Given the description of an element on the screen output the (x, y) to click on. 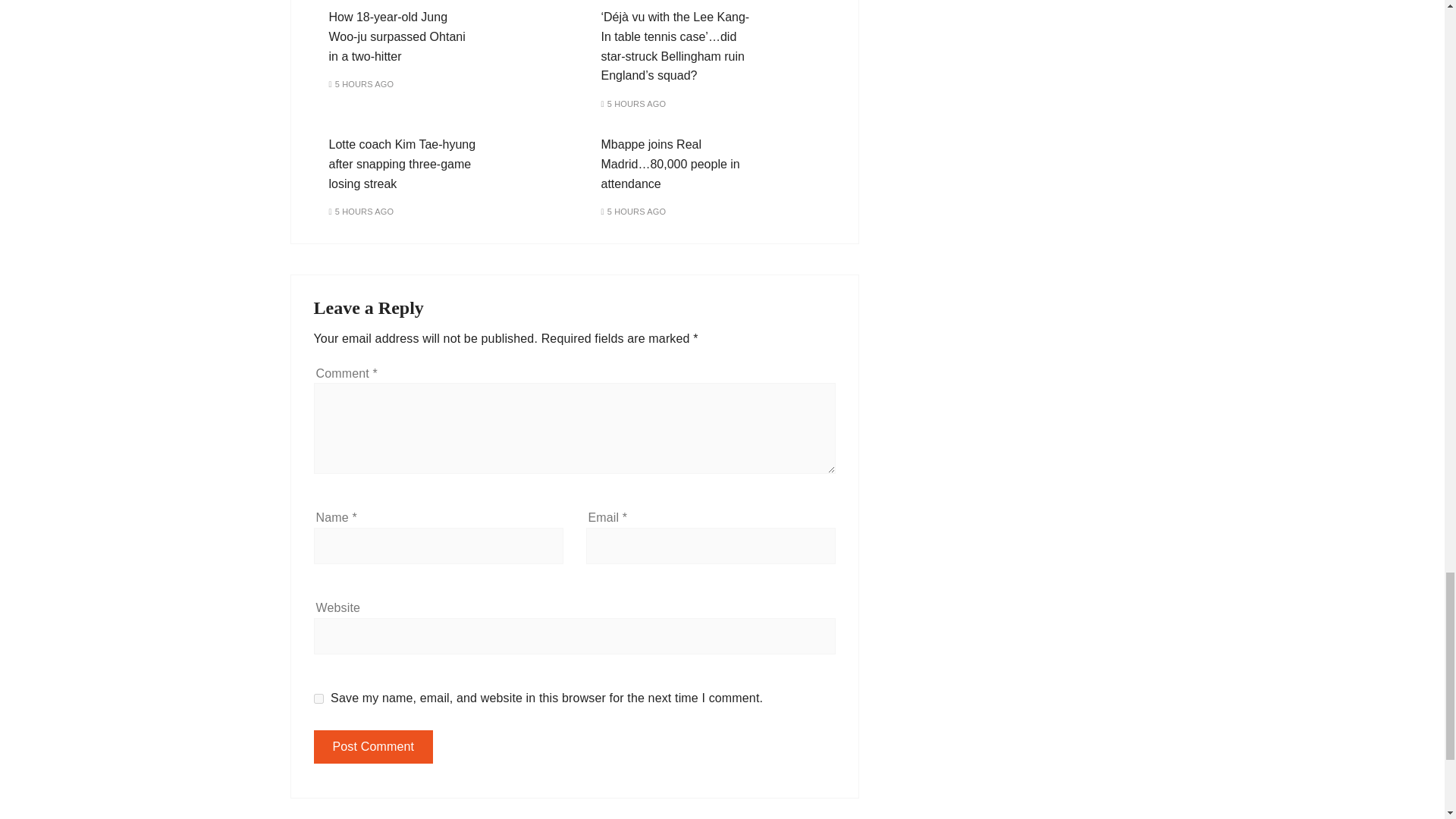
Post Comment (373, 746)
How 18-year-old Jung Woo-ju surpassed Ohtani in a two-hitter (397, 36)
Post Comment (373, 746)
yes (318, 698)
